Given the description of an element on the screen output the (x, y) to click on. 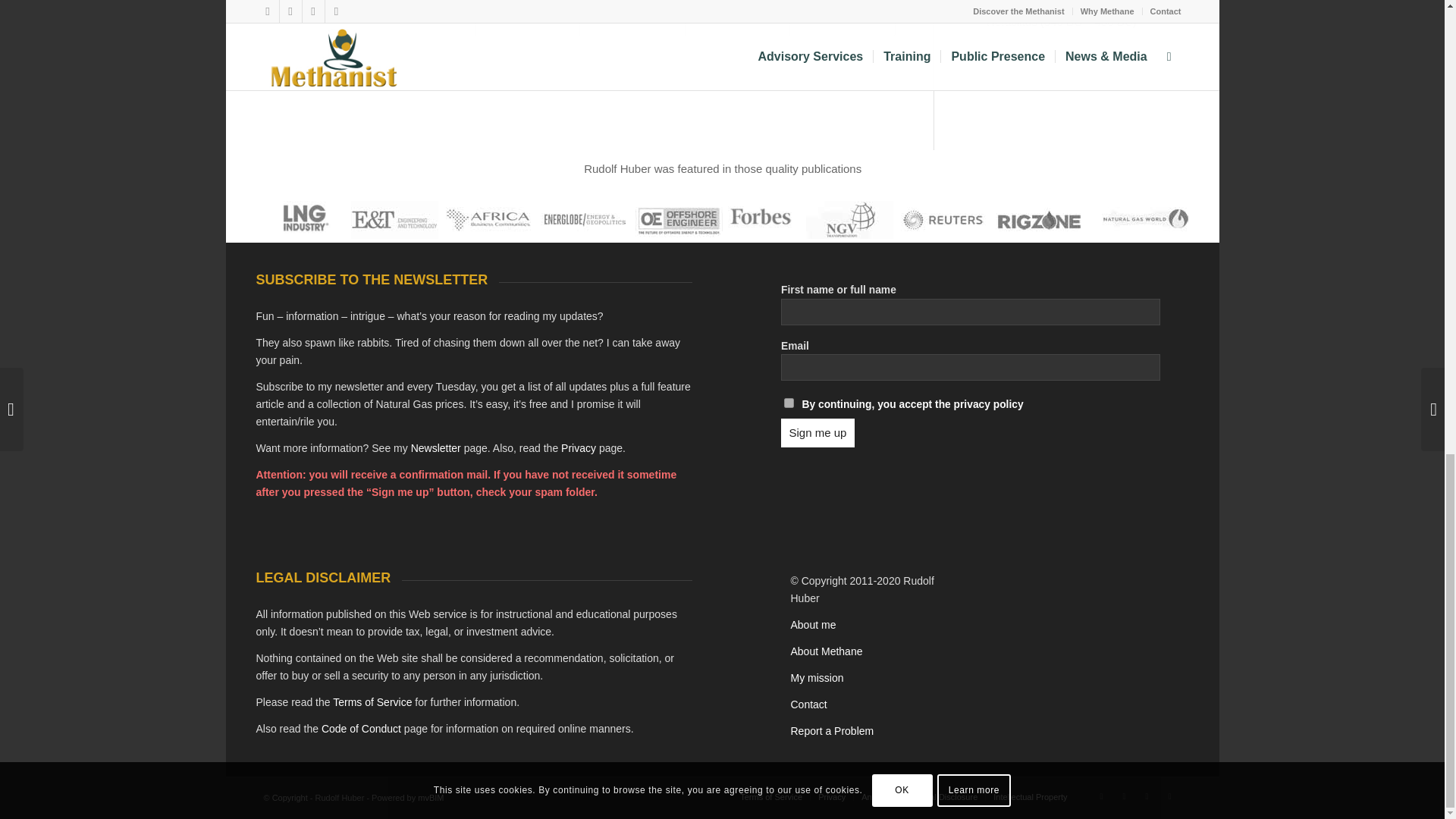
on (788, 402)
Sign me up (817, 432)
